Given the description of an element on the screen output the (x, y) to click on. 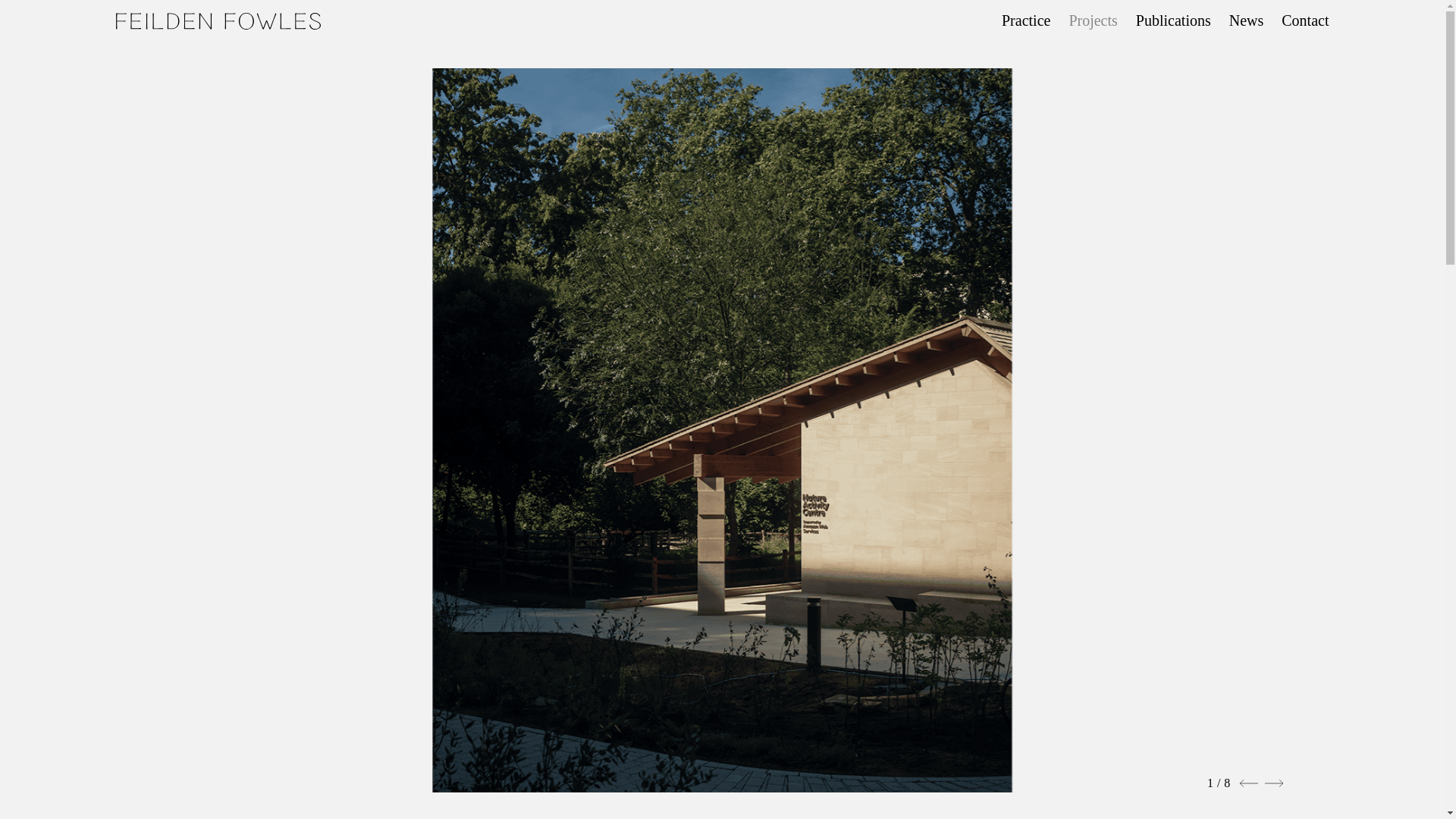
Practice (1016, 20)
Contact (1295, 20)
Projects (1082, 20)
News (1237, 20)
Publications (1164, 20)
